Given the description of an element on the screen output the (x, y) to click on. 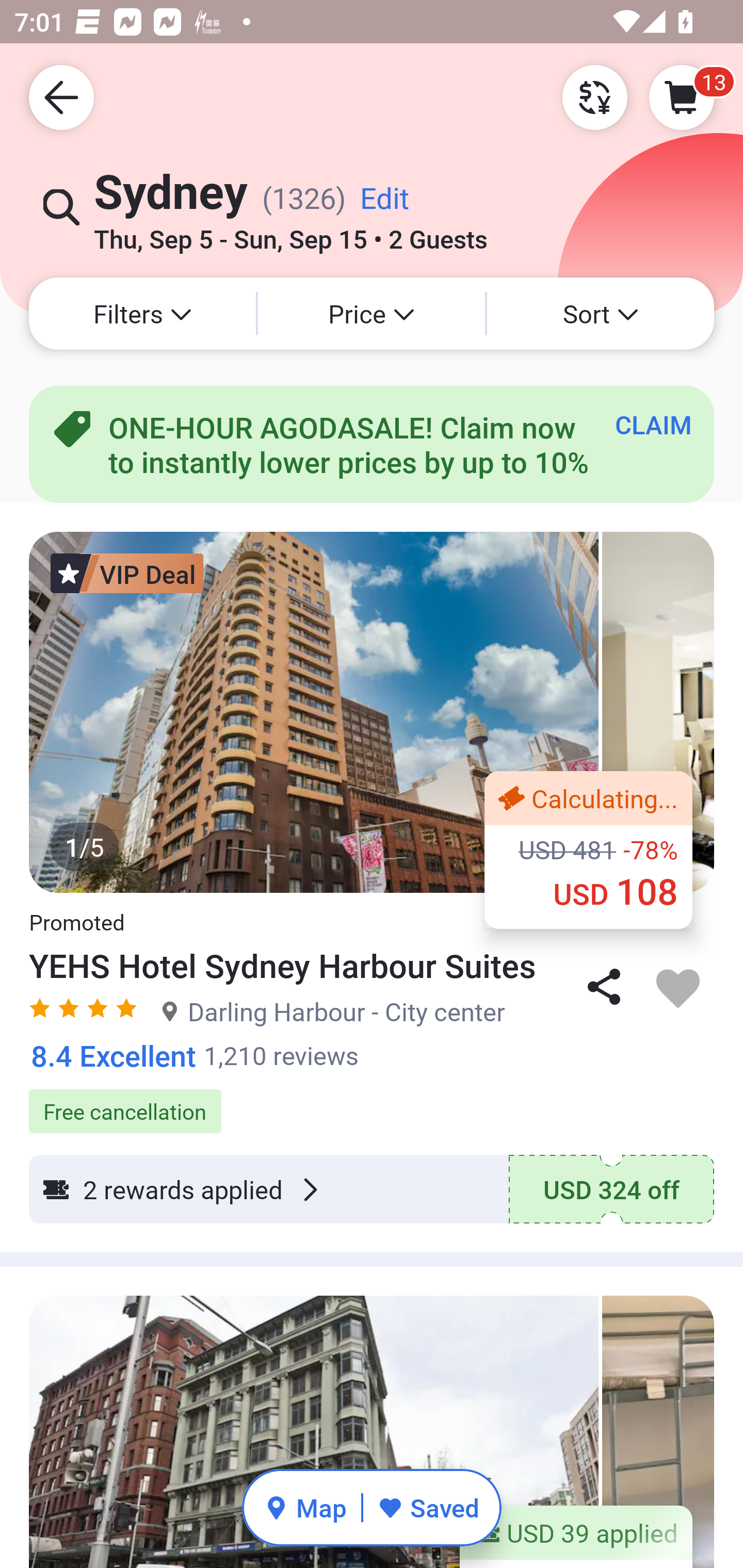
Filters (141, 313)
Price (371, 313)
Sort (600, 313)
CLAIM (653, 424)
VIP Deal (126, 572)
1/5 (371, 711)
Calculating... ‪USD 481 -78% ‪USD 108 (588, 849)
Promoted (76, 911)
Free cancellation (371, 1100)
2 rewards applied USD 324 off (371, 1189)
Map (305, 1507)
Saved (428, 1507)
USD 39 applied ‪USD 176 -66% (575, 1536)
